Given the description of an element on the screen output the (x, y) to click on. 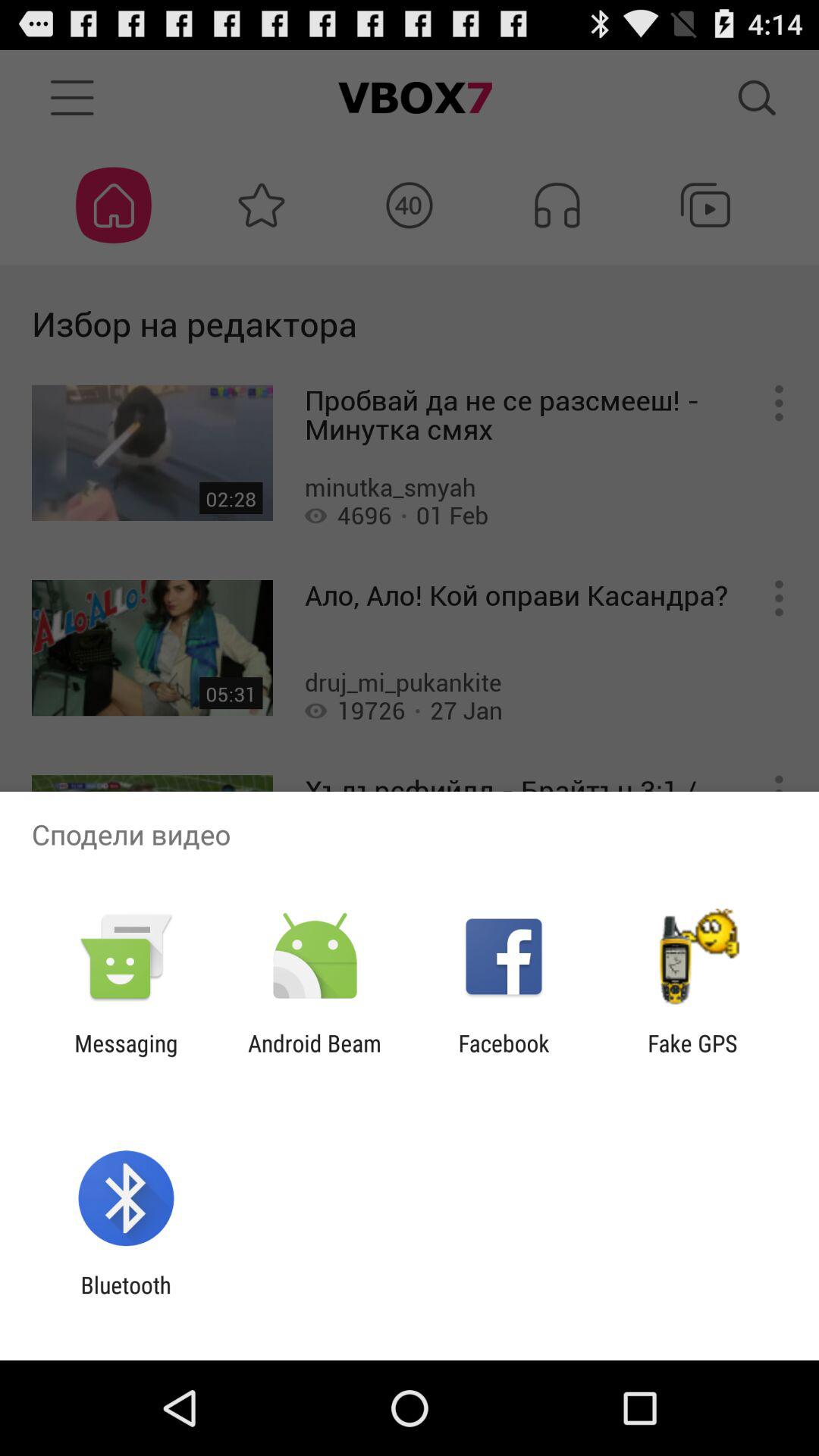
press app to the right of messaging (314, 1056)
